Given the description of an element on the screen output the (x, y) to click on. 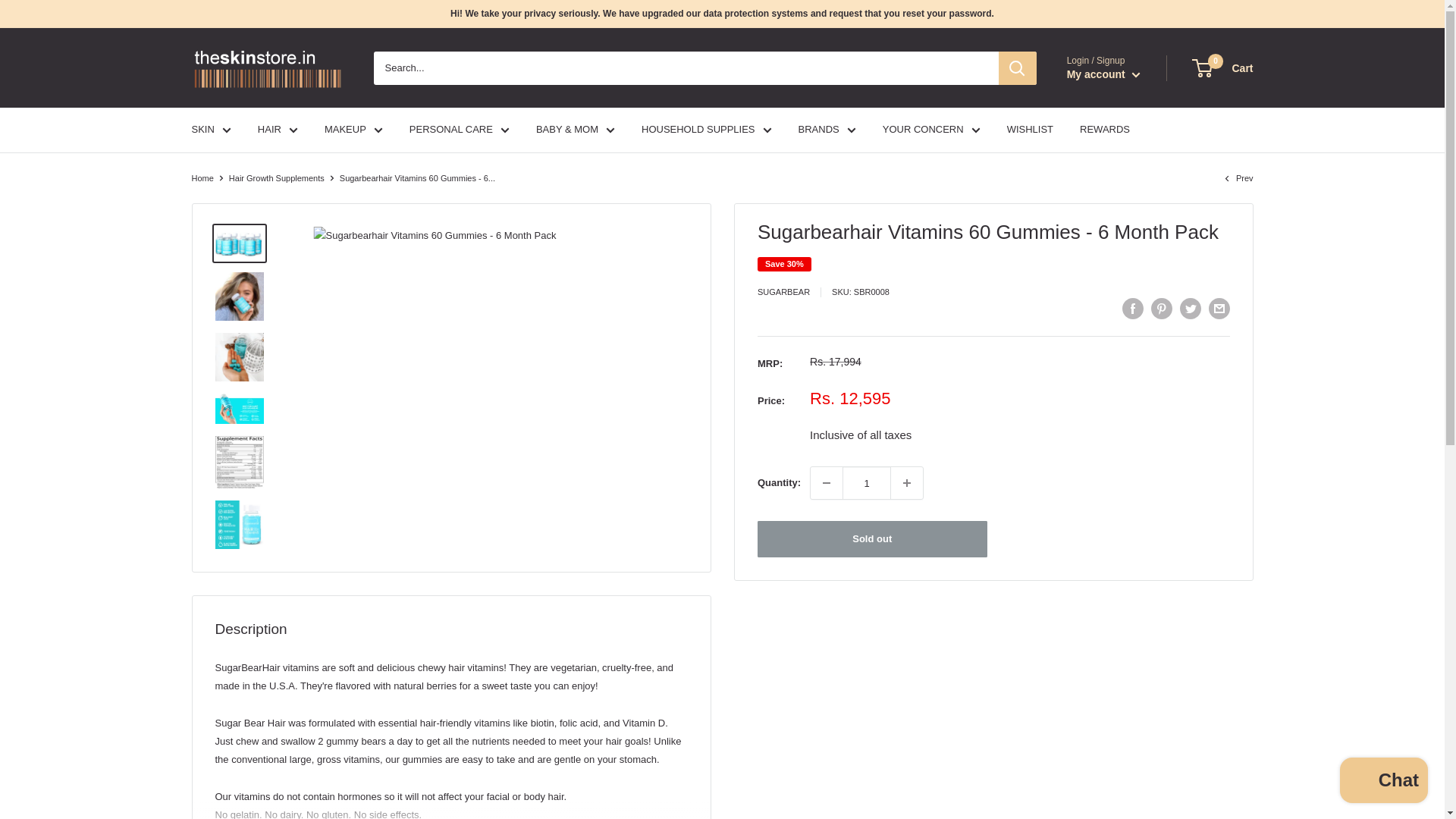
Shopify online store chat (1383, 781)
1 (867, 482)
Increase quantity by 1 (907, 482)
Decrease quantity by 1 (826, 482)
